Given the description of an element on the screen output the (x, y) to click on. 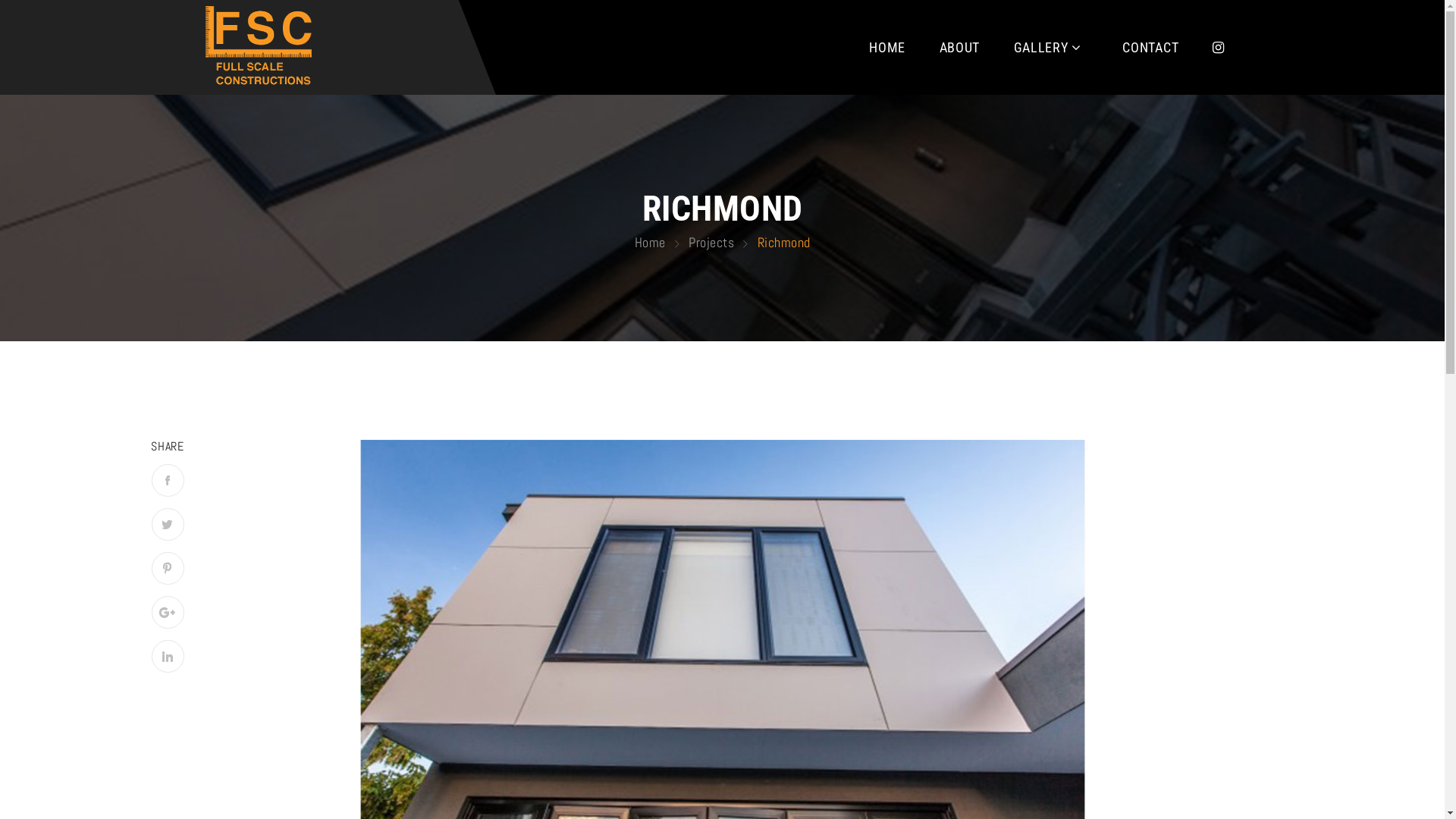
Projects Element type: text (711, 242)
ABOUT Element type: text (959, 47)
Home Element type: text (649, 242)
CONTACT Element type: text (1150, 47)
HOME Element type: text (886, 47)
GALLERY Element type: text (1047, 47)
